Given the description of an element on the screen output the (x, y) to click on. 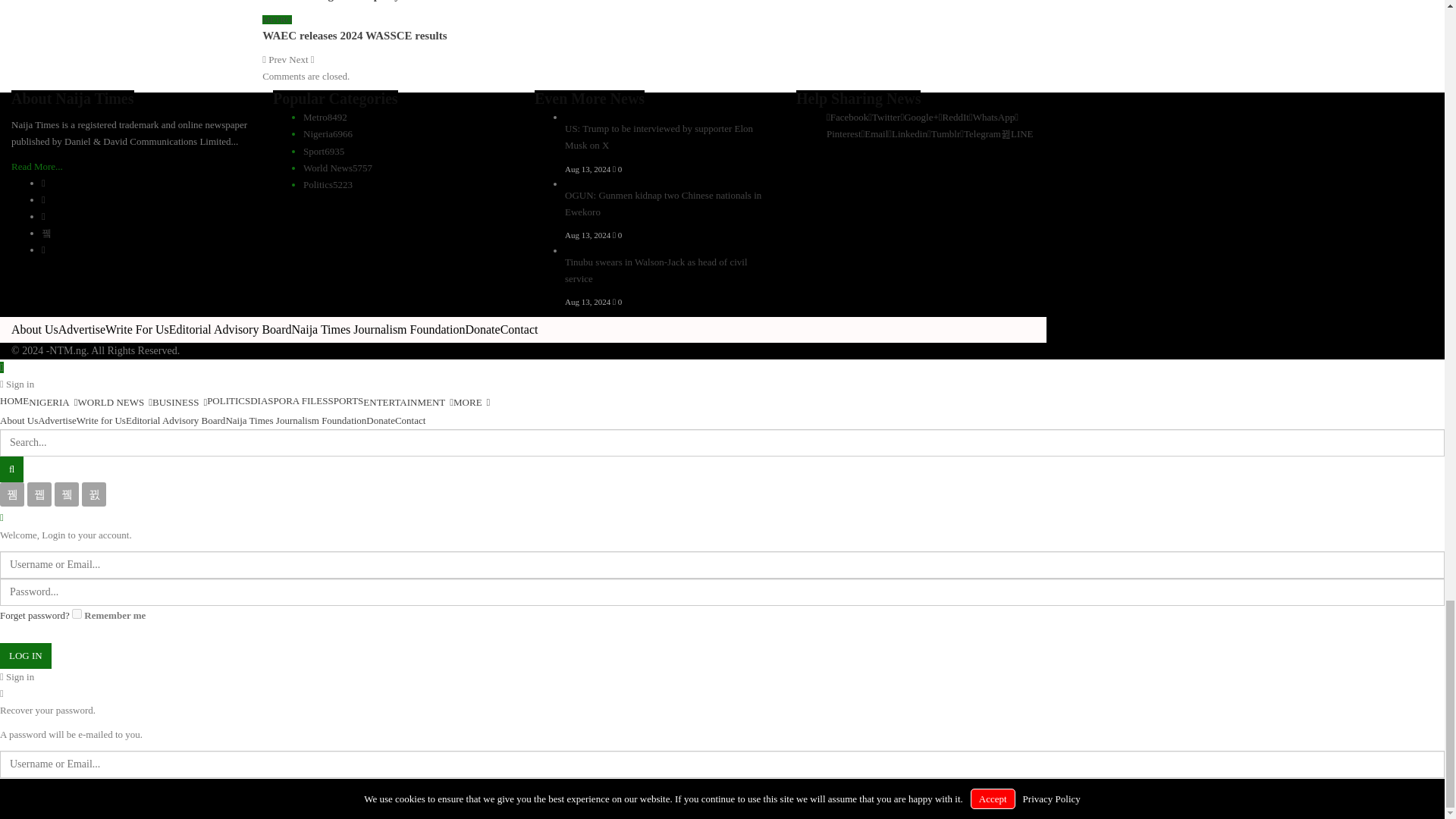
forever (76, 614)
Next (301, 59)
Log In (25, 655)
Previous (275, 59)
WAEC releases 2024 WASSCE results (354, 35)
